Given the description of an element on the screen output the (x, y) to click on. 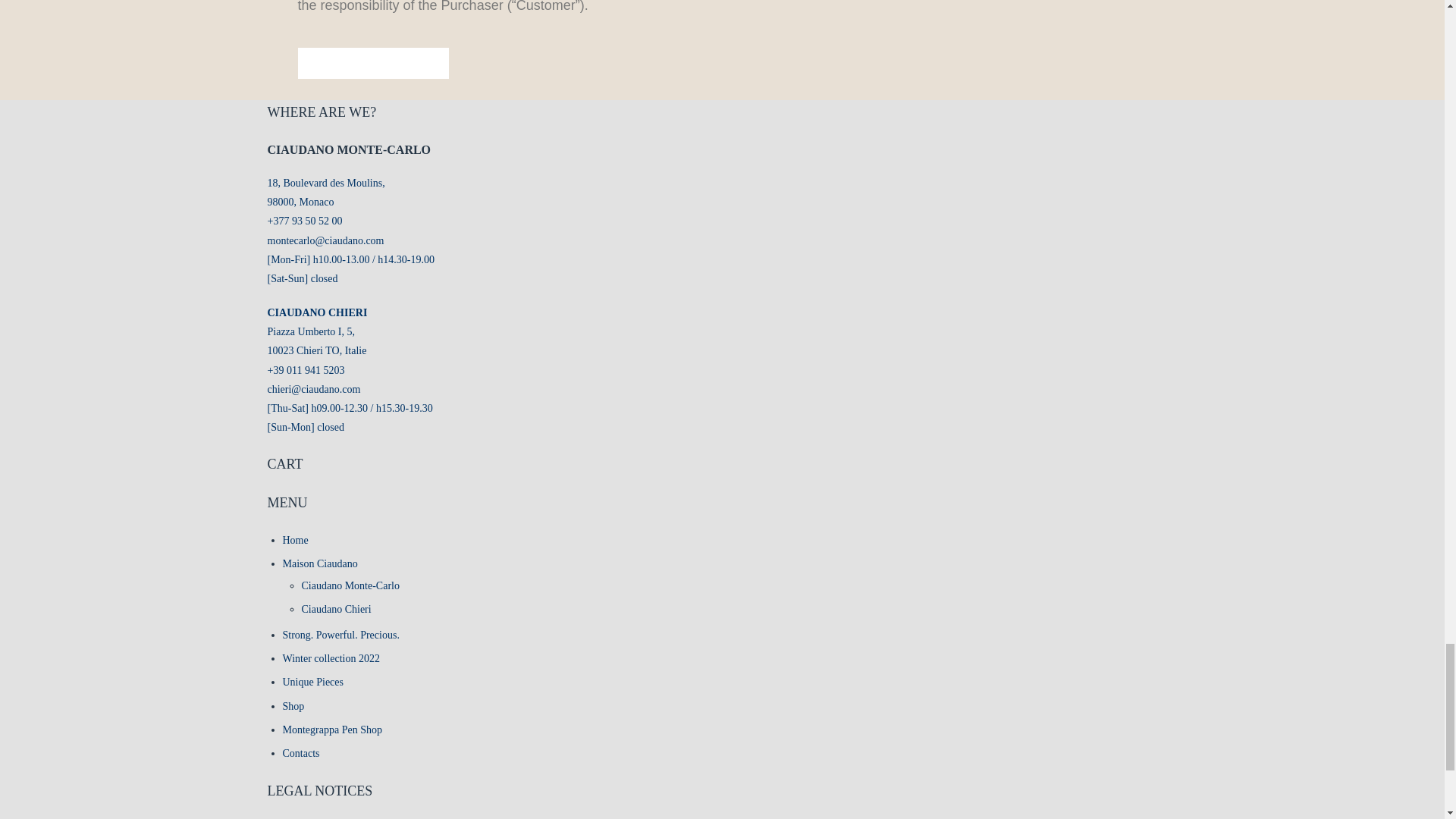
Contacts (300, 753)
Ciaudano Chieri (336, 609)
Maison Ciaudano (319, 563)
Unique Pieces (312, 681)
Montegrappa Pen Shop (331, 729)
Strong. Powerful. Precious. (340, 634)
WITHDRAWAL FORM (372, 62)
Home (294, 540)
Ciaudano Monte-Carlo (349, 585)
Shop (293, 706)
